Given the description of an element on the screen output the (x, y) to click on. 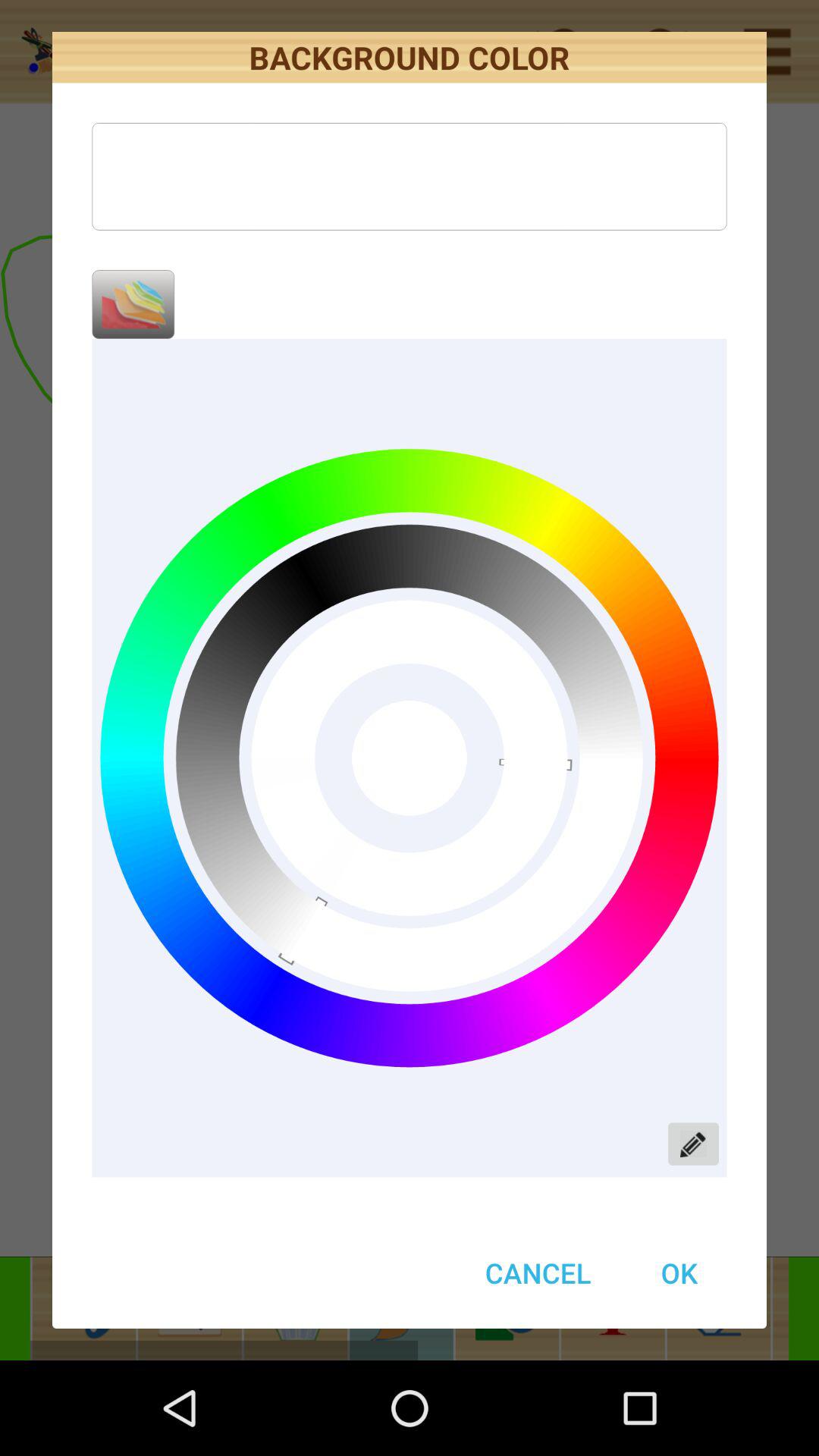
click cancel button (538, 1272)
